Given the description of an element on the screen output the (x, y) to click on. 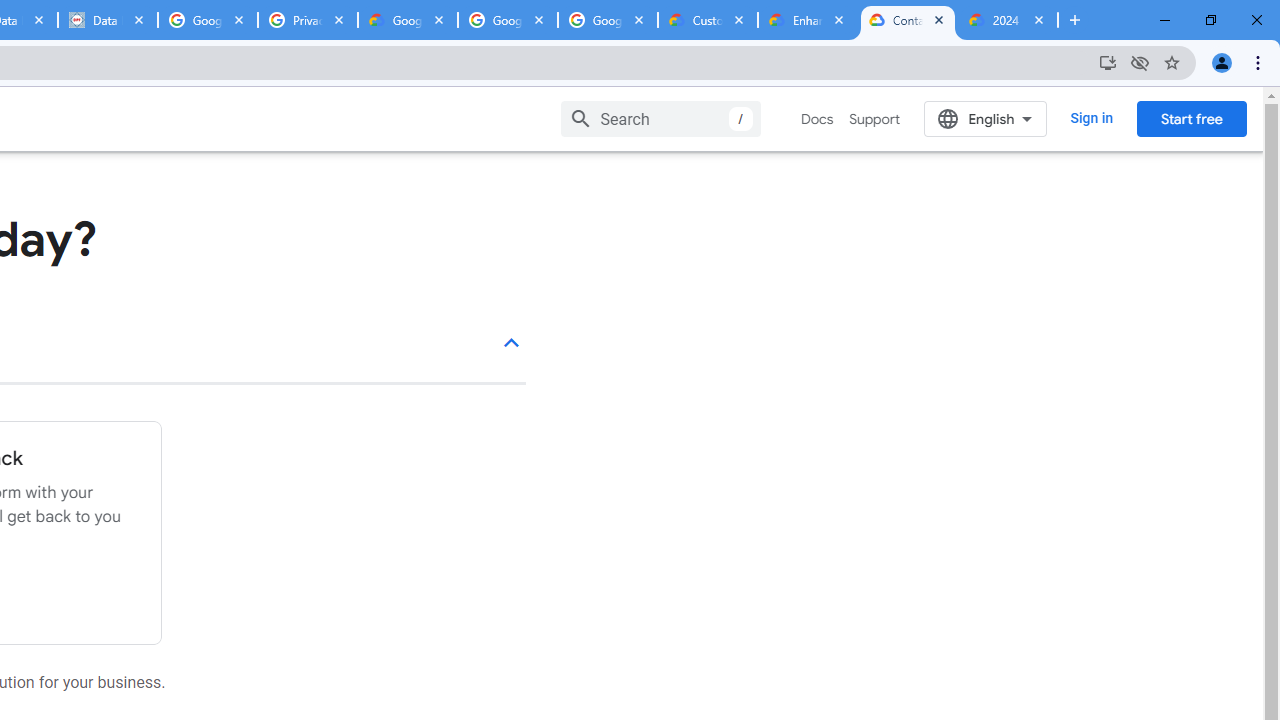
Start free (1191, 118)
English (985, 118)
Install Google Cloud (1107, 62)
Docs (817, 119)
Support (874, 119)
Google Workspace - Specific Terms (508, 20)
Customer Care | Google Cloud (707, 20)
Data Privacy Framework (107, 20)
